Given the description of an element on the screen output the (x, y) to click on. 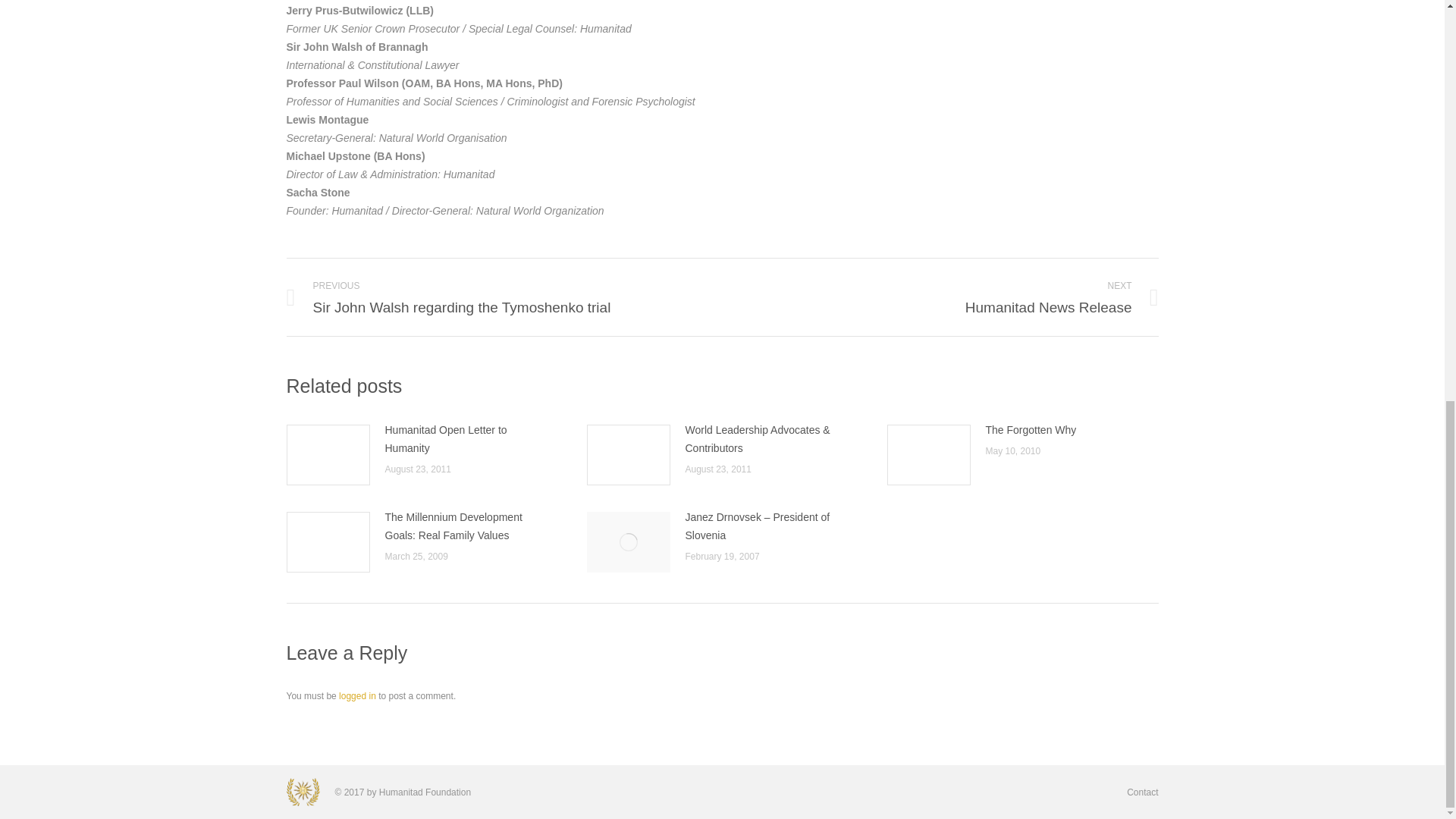
logged in (357, 696)
The Forgotten Why (950, 296)
Contact (1031, 429)
Humanitad Open Letter to Humanity (1141, 791)
The Millennium Development Goals: Real Family Values (466, 438)
